Given the description of an element on the screen output the (x, y) to click on. 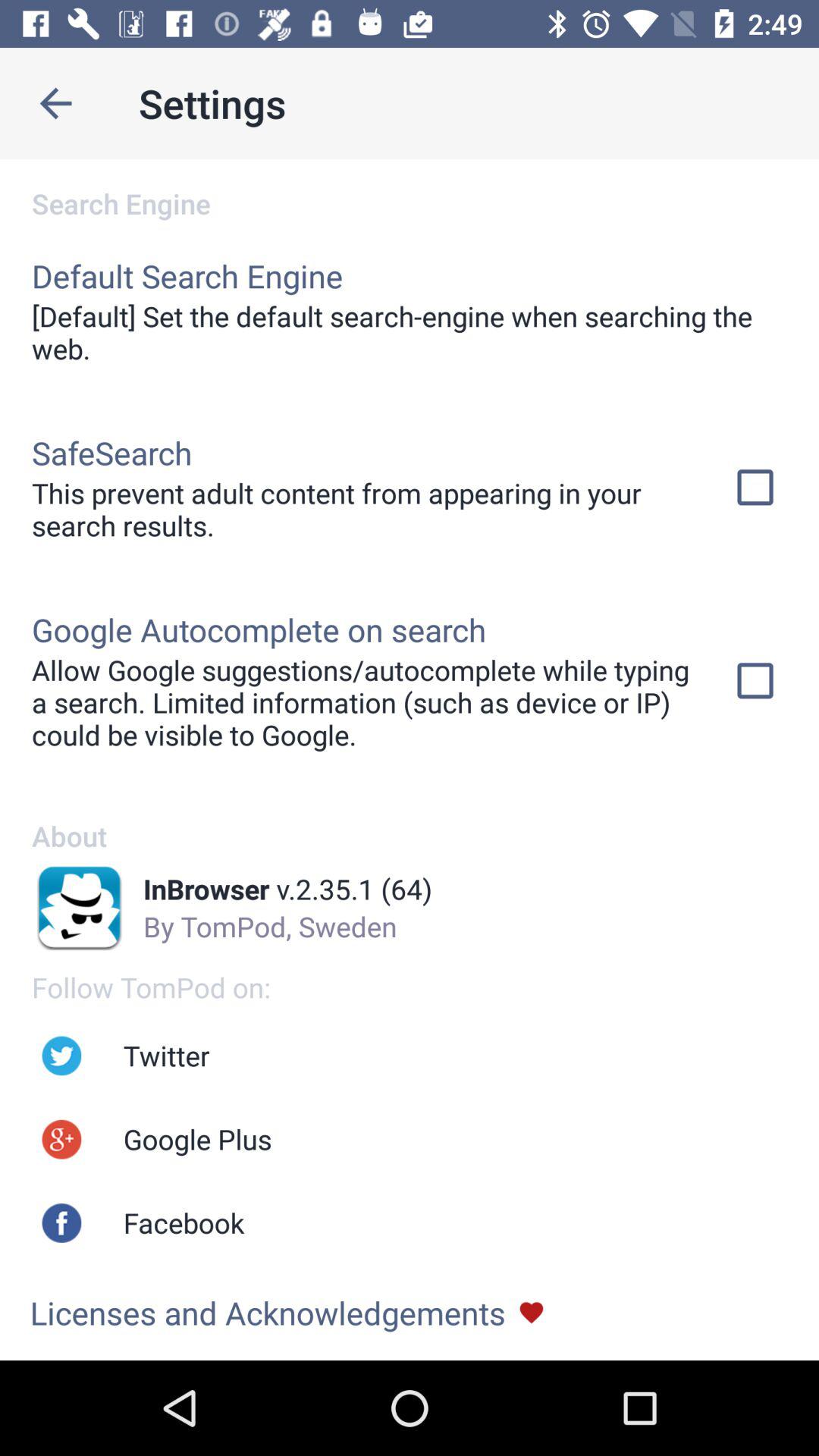
tap item above google autocomplete on (361, 509)
